Given the description of an element on the screen output the (x, y) to click on. 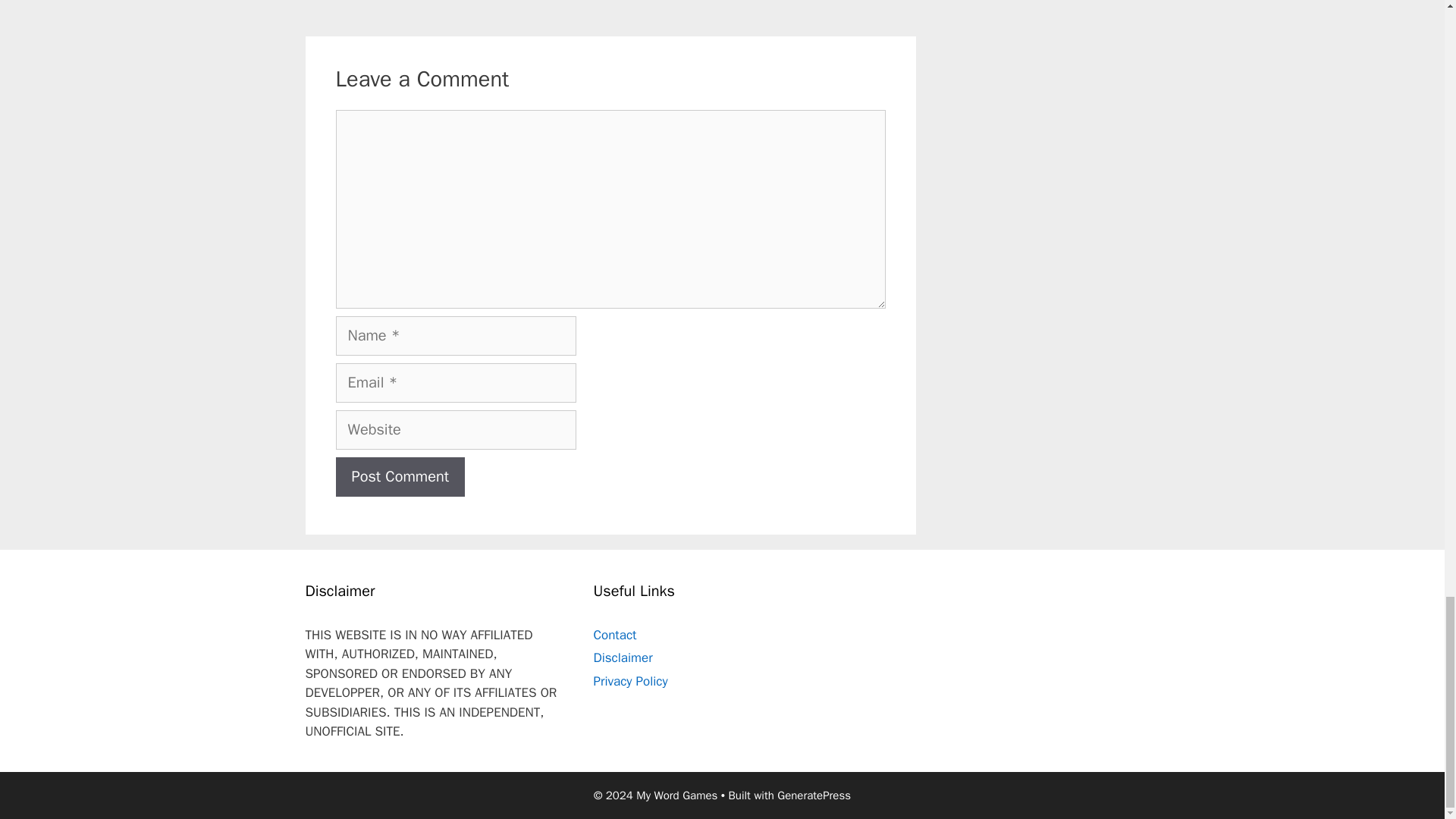
Privacy Policy (629, 681)
GeneratePress (813, 795)
Contact (614, 634)
Disclaimer (622, 657)
Post Comment (399, 476)
Post Comment (399, 476)
